Given the description of an element on the screen output the (x, y) to click on. 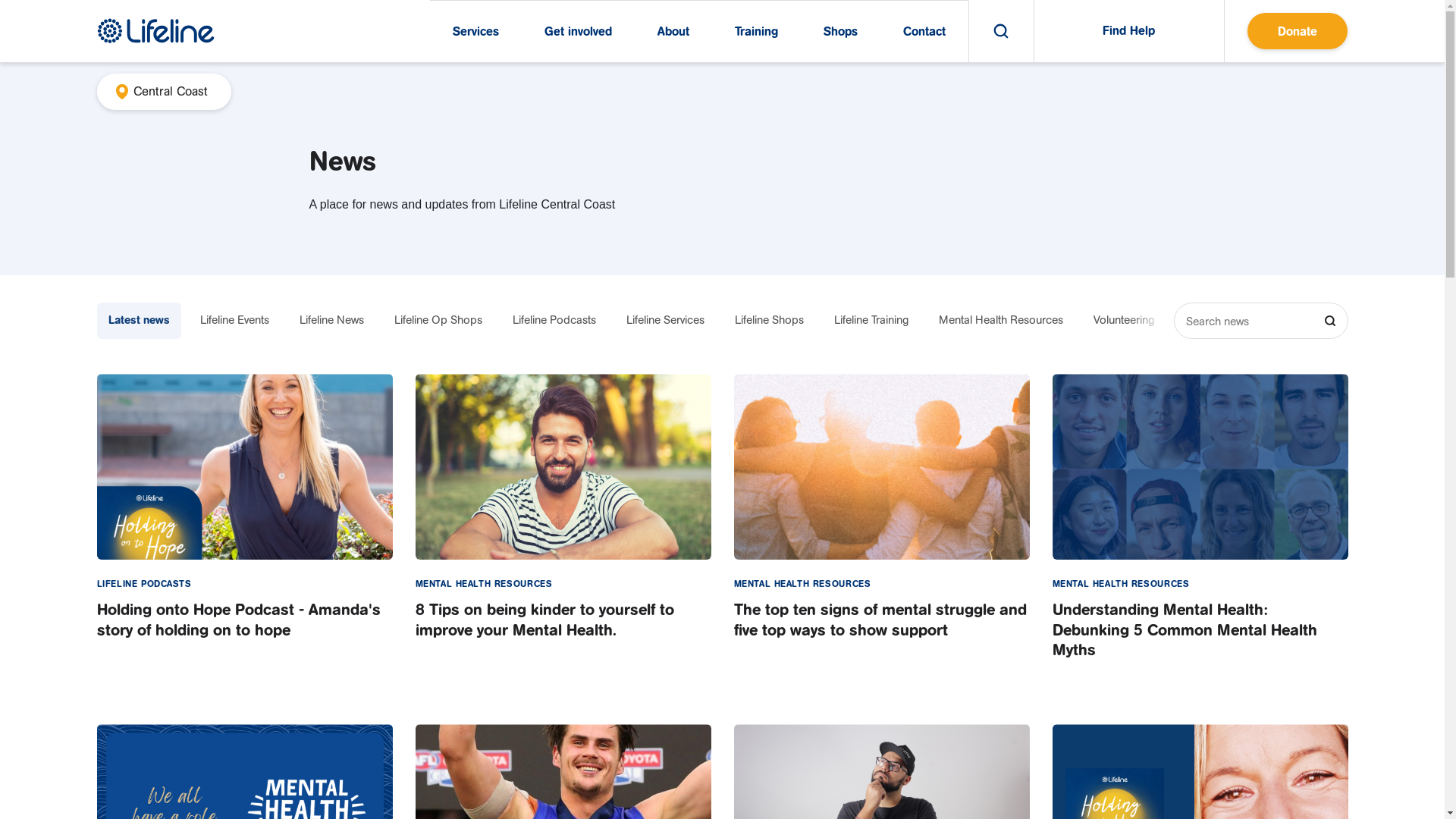
Lifeline News Element type: text (331, 319)
Mental Health Resources Element type: text (999, 319)
Central Coast Element type: text (164, 91)
Lifeline Training Element type: text (870, 319)
Lifeline Shops Element type: text (769, 319)
Search Element type: text (1328, 320)
Lifeline Podcasts Element type: text (553, 319)
Find Help Element type: text (1128, 31)
Lifeline Services Element type: text (664, 319)
Services Element type: text (474, 31)
Get involved Element type: text (577, 31)
Training Element type: text (755, 31)
About Element type: text (672, 31)
Latest news Element type: text (139, 320)
Donate Element type: text (1296, 30)
Shops Element type: text (840, 31)
Contact Element type: text (923, 31)
Toggle search Element type: text (1001, 31)
Volunteering Element type: text (1122, 319)
Lifeline Events Element type: text (233, 319)
Lifeline Op Shops Element type: text (437, 319)
